Given the description of an element on the screen output the (x, y) to click on. 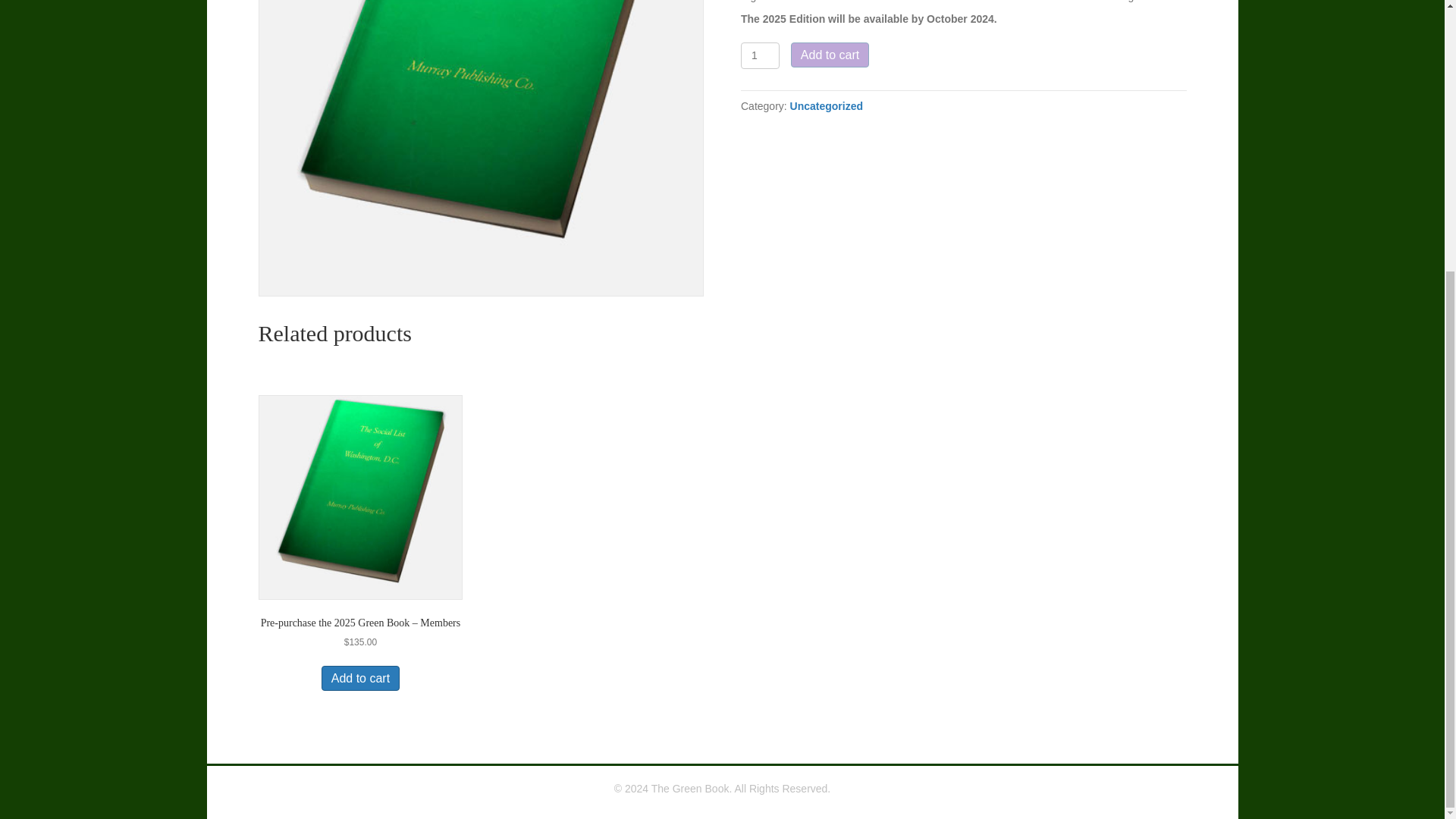
Add to cart (829, 54)
Add to cart (359, 678)
Uncategorized (826, 105)
1 (759, 55)
